Given the description of an element on the screen output the (x, y) to click on. 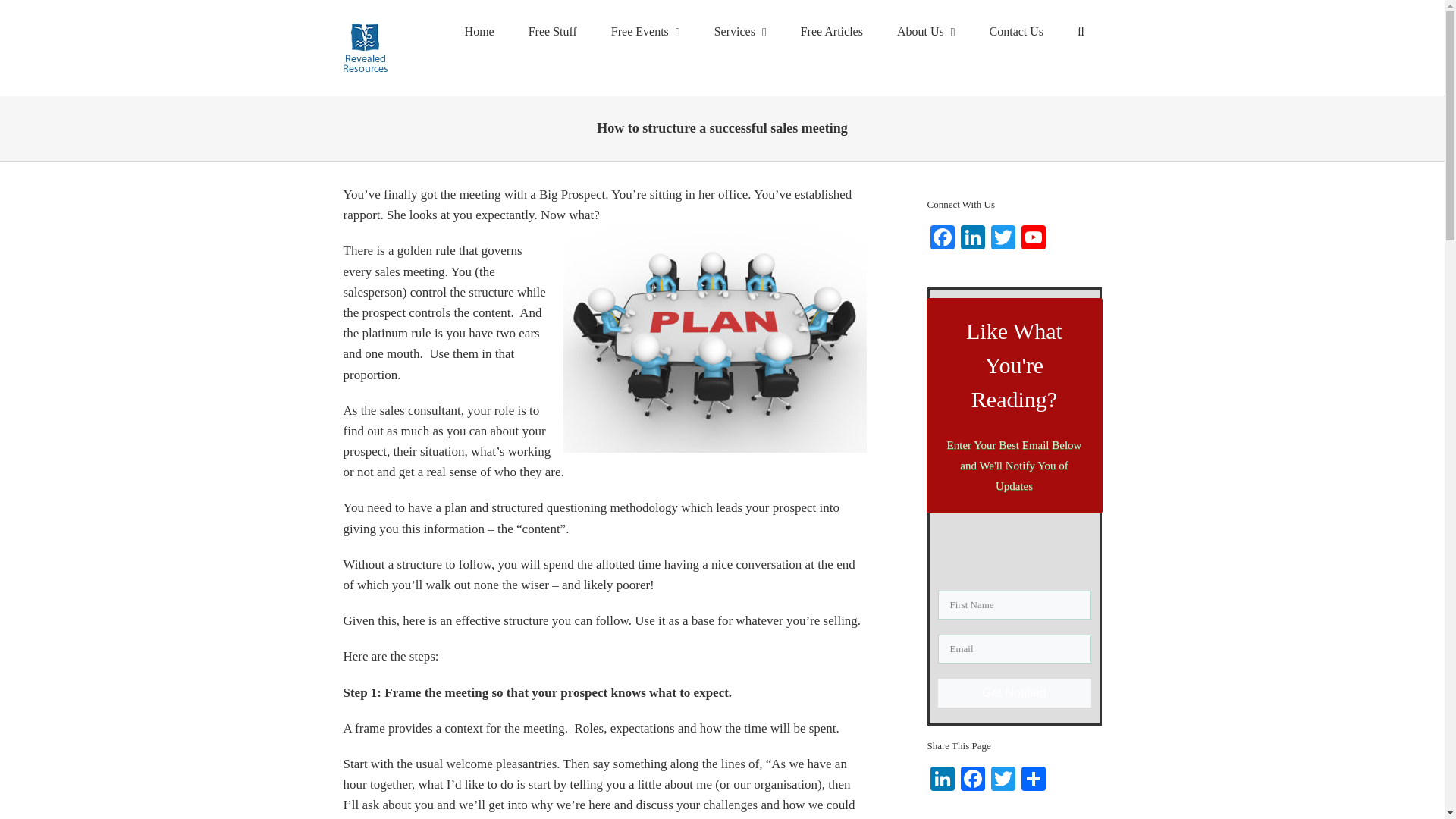
Services (740, 31)
Free Stuff (552, 31)
Facebook (941, 239)
Home (478, 31)
Contact Us (1016, 31)
Free Articles (831, 31)
Free Events (645, 31)
About Us (925, 31)
